Given the description of an element on the screen output the (x, y) to click on. 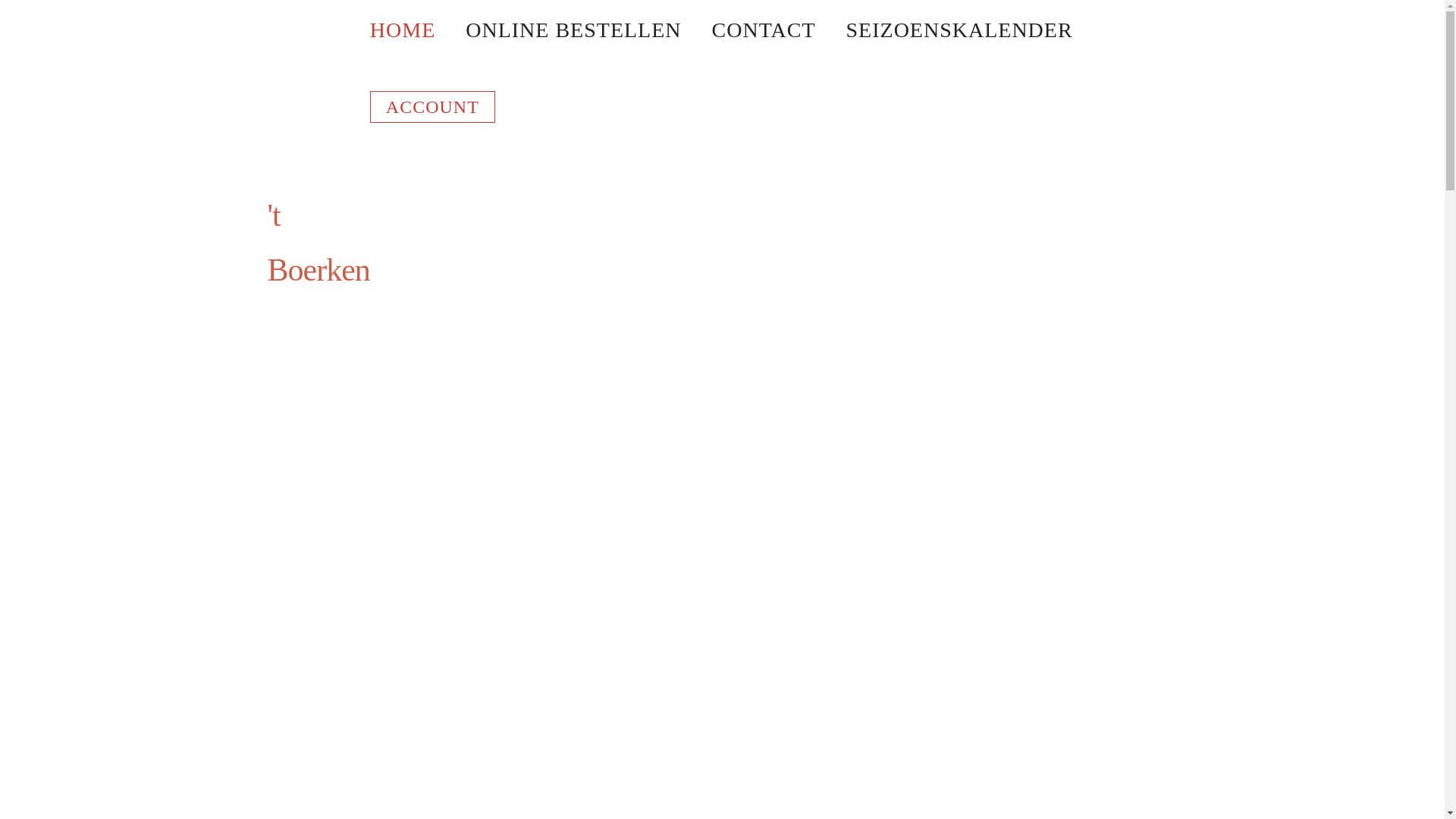
Inloggen Element type: text (481, 268)
ACCOUNT Element type: text (432, 106)
CONTACT Element type: text (763, 30)
ONLINE BESTELLEN Element type: text (572, 30)
HOME Element type: text (402, 30)
't Boerken Element type: text (317, 243)
SEIZOENSKALENDER Element type: text (959, 30)
